Given the description of an element on the screen output the (x, y) to click on. 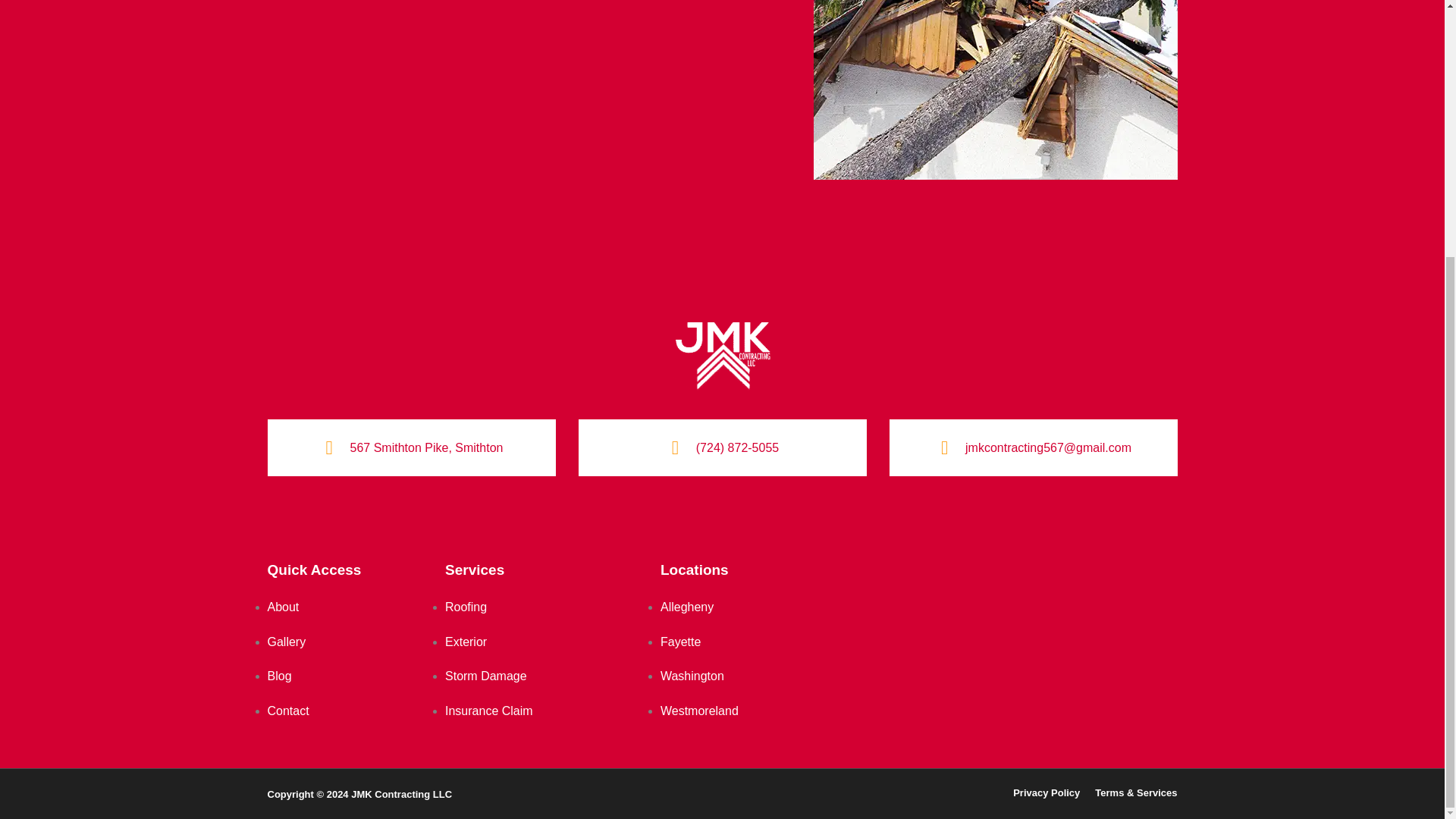
567 Smithton Pike, Smithton (426, 447)
